Given the description of an element on the screen output the (x, y) to click on. 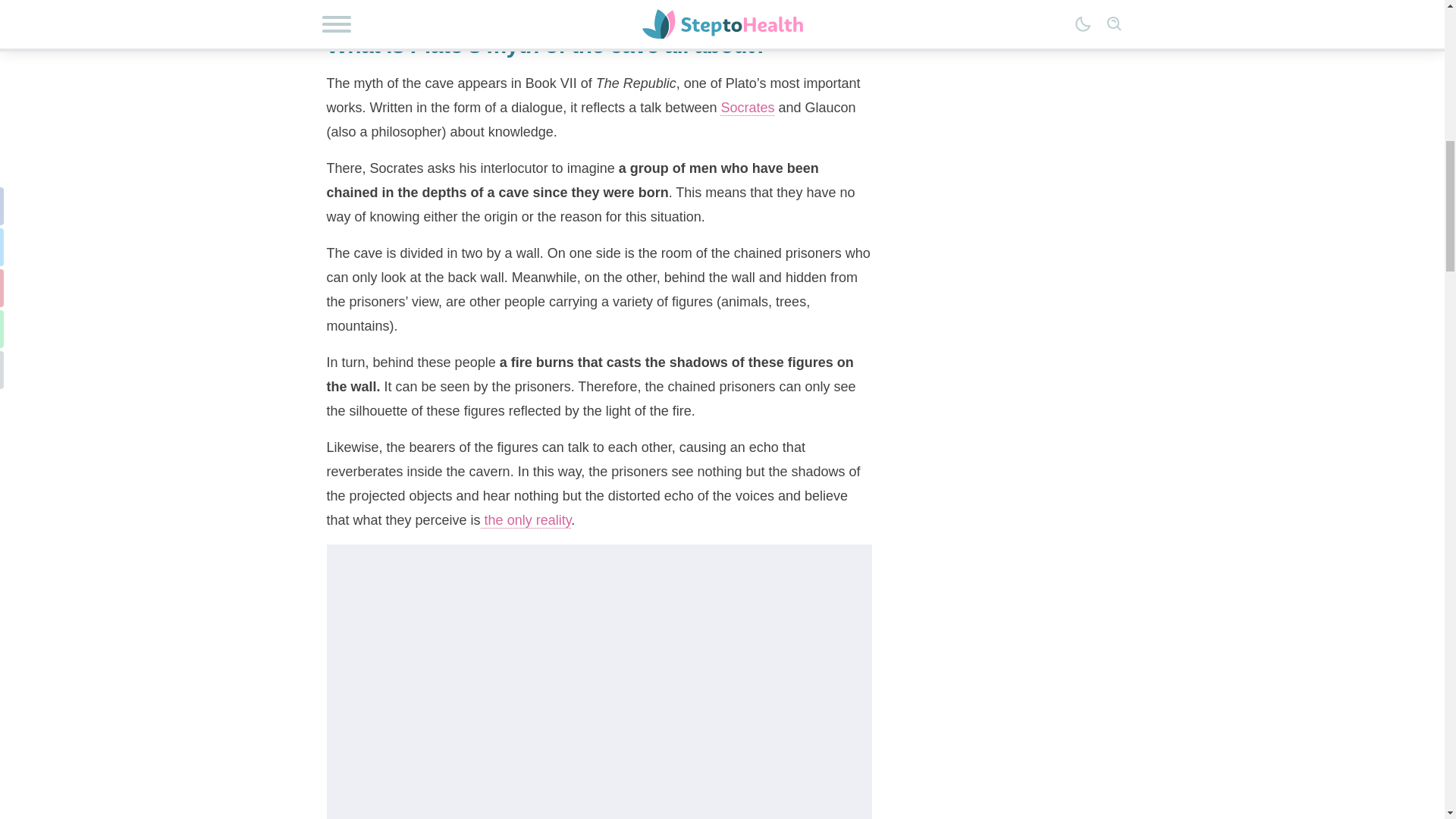
the only reality (526, 520)
Socrates (747, 107)
